Given the description of an element on the screen output the (x, y) to click on. 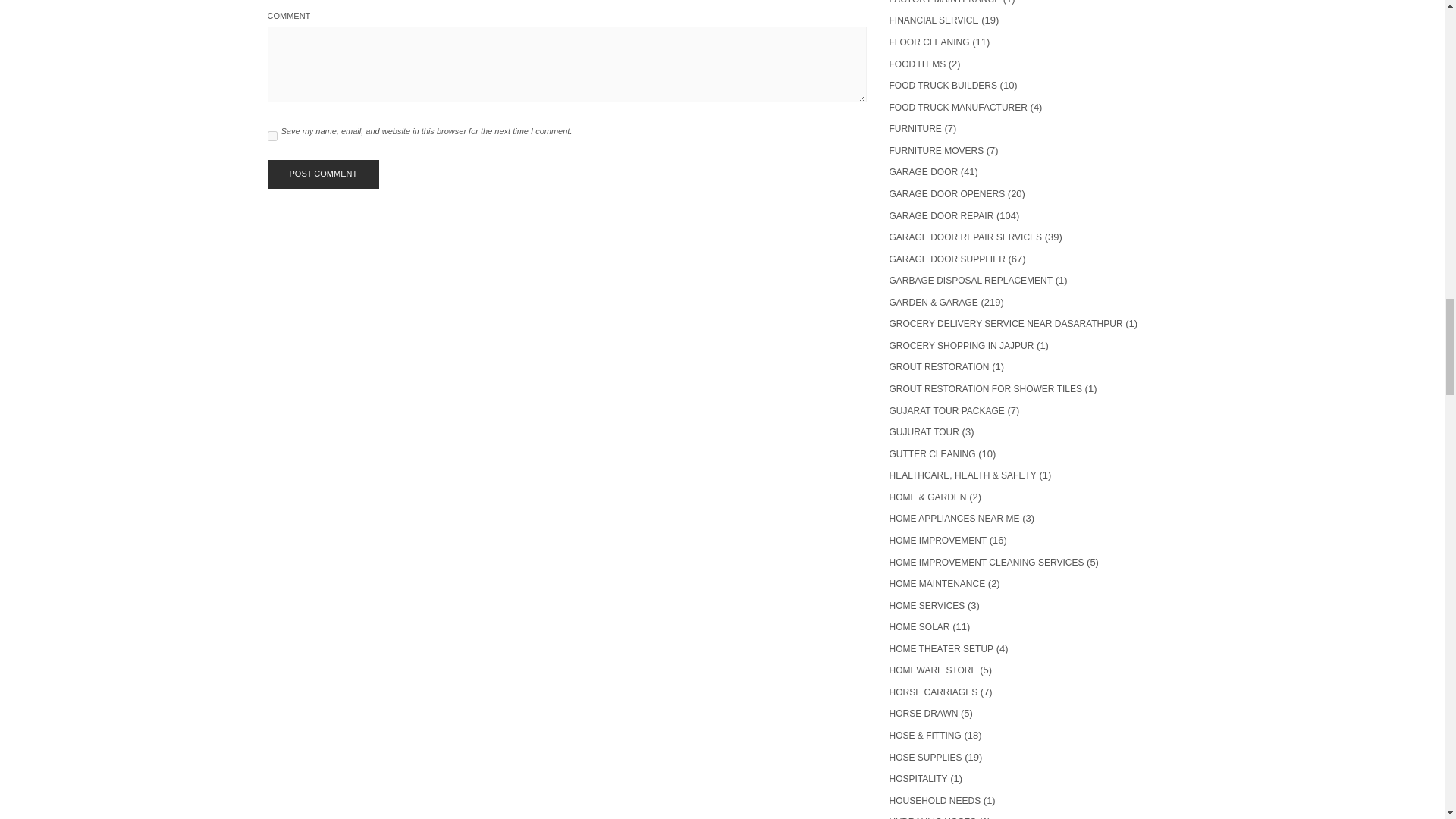
Post Comment (322, 174)
yes (271, 135)
Post Comment (322, 174)
